Given the description of an element on the screen output the (x, y) to click on. 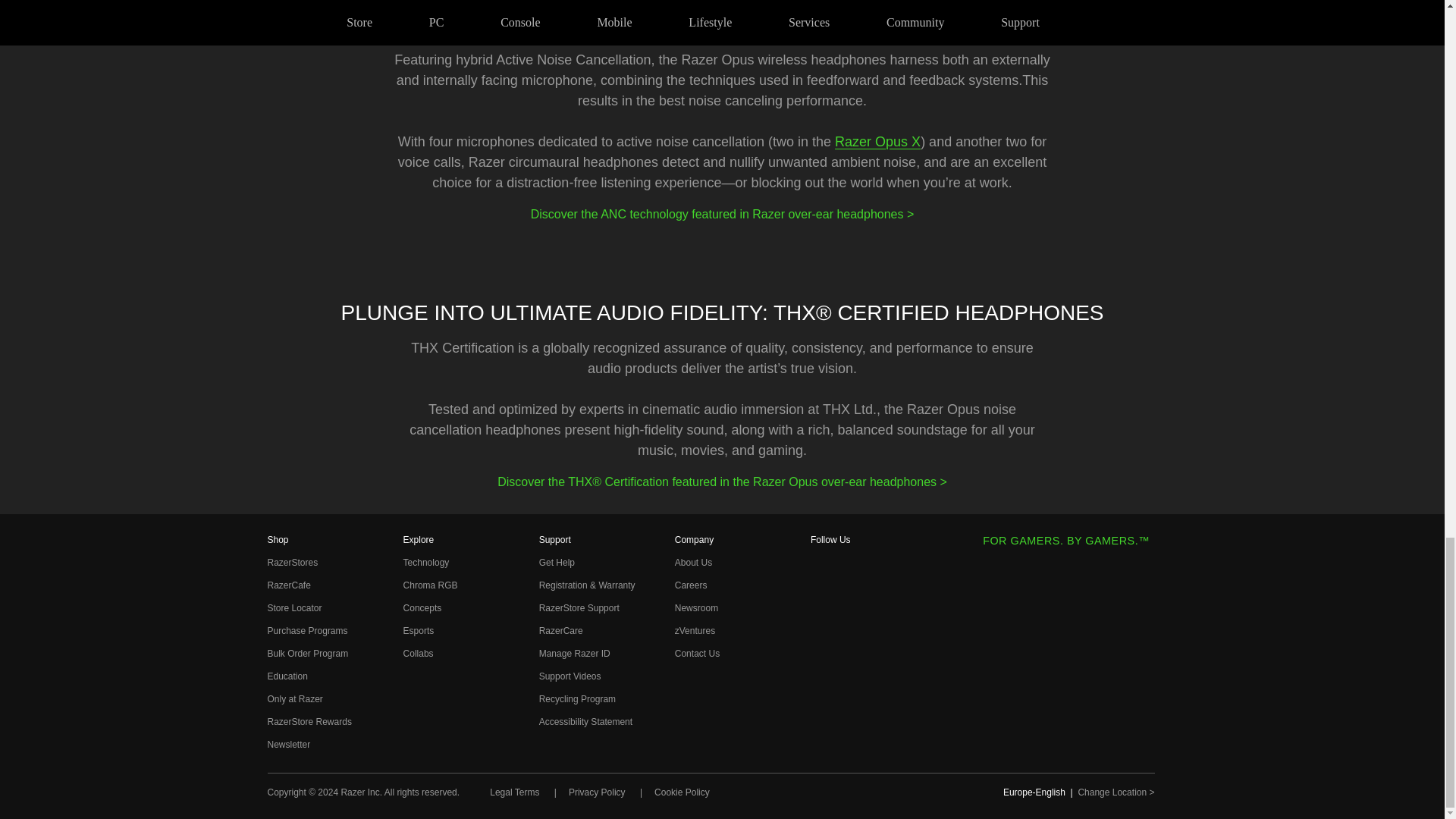
Discord (820, 741)
Threads (820, 616)
Store Locator (293, 607)
X (820, 640)
Twitch (820, 716)
RazerCafe (288, 584)
Purchase Programs (306, 630)
Instagram (820, 590)
Bulk Order Program (306, 653)
Razer Opus X (877, 141)
RazerStores (291, 562)
TikTok (820, 690)
Education (286, 675)
Facebook (820, 566)
